Given the description of an element on the screen output the (x, y) to click on. 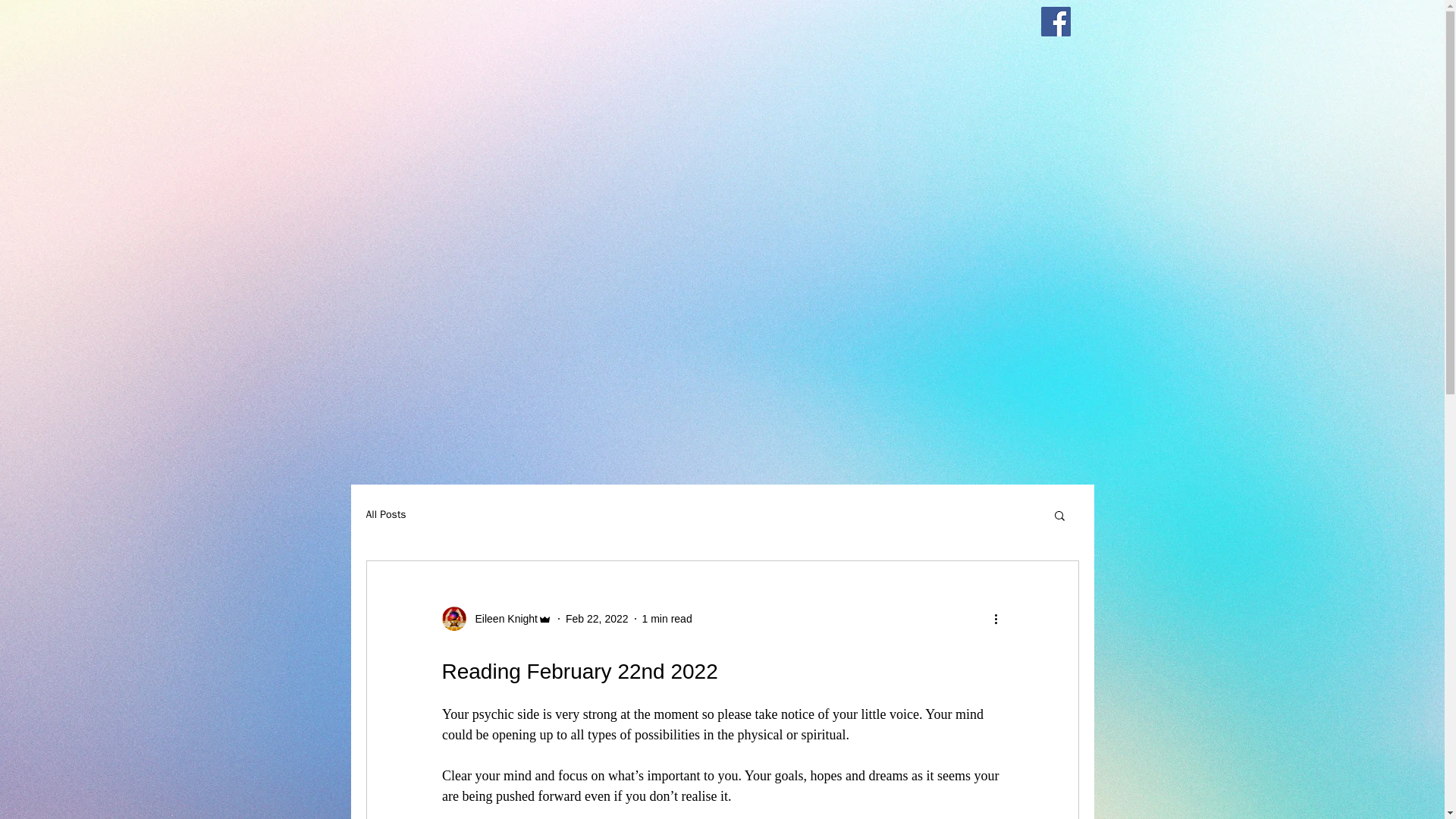
Eileen Knight (501, 618)
All Posts (385, 514)
Feb 22, 2022 (597, 618)
Eileen Knight (496, 618)
1 min read (667, 618)
